Given the description of an element on the screen output the (x, y) to click on. 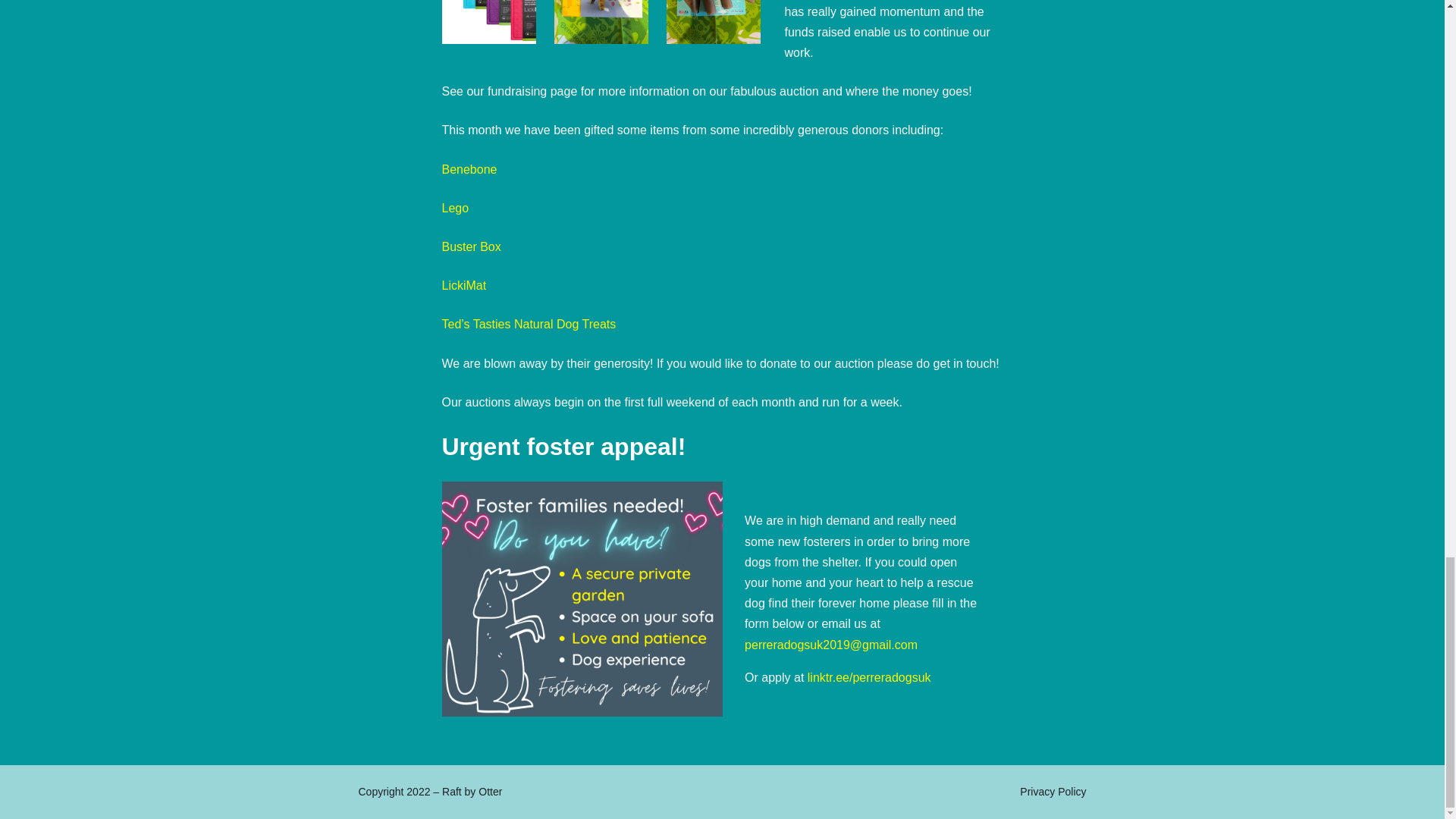
Benebone (468, 169)
Lego (454, 207)
Buster Box (470, 246)
LickiMat (463, 285)
Privacy Policy (1053, 791)
